Given the description of an element on the screen output the (x, y) to click on. 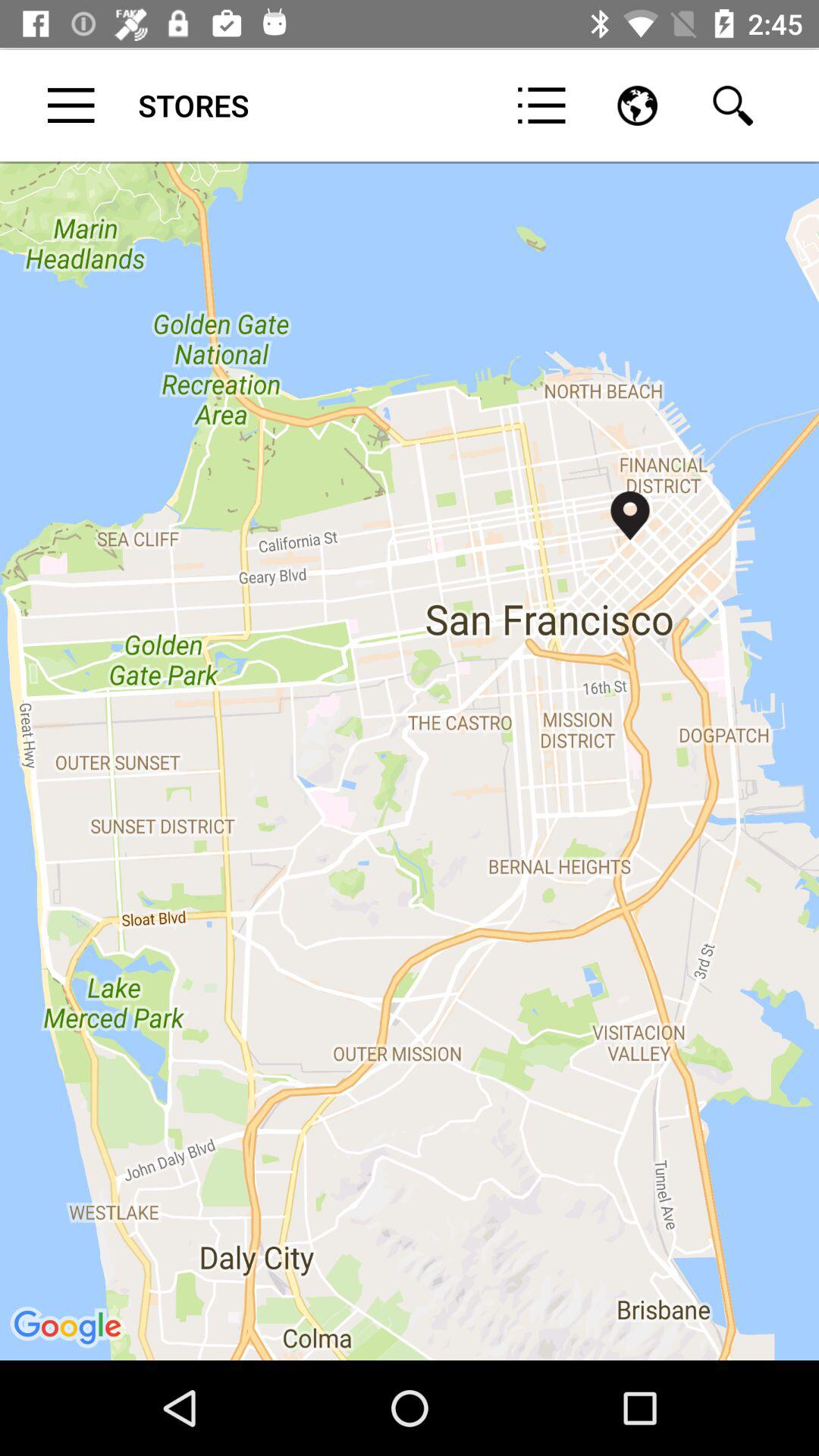
open item at the center (409, 759)
